Given the description of an element on the screen output the (x, y) to click on. 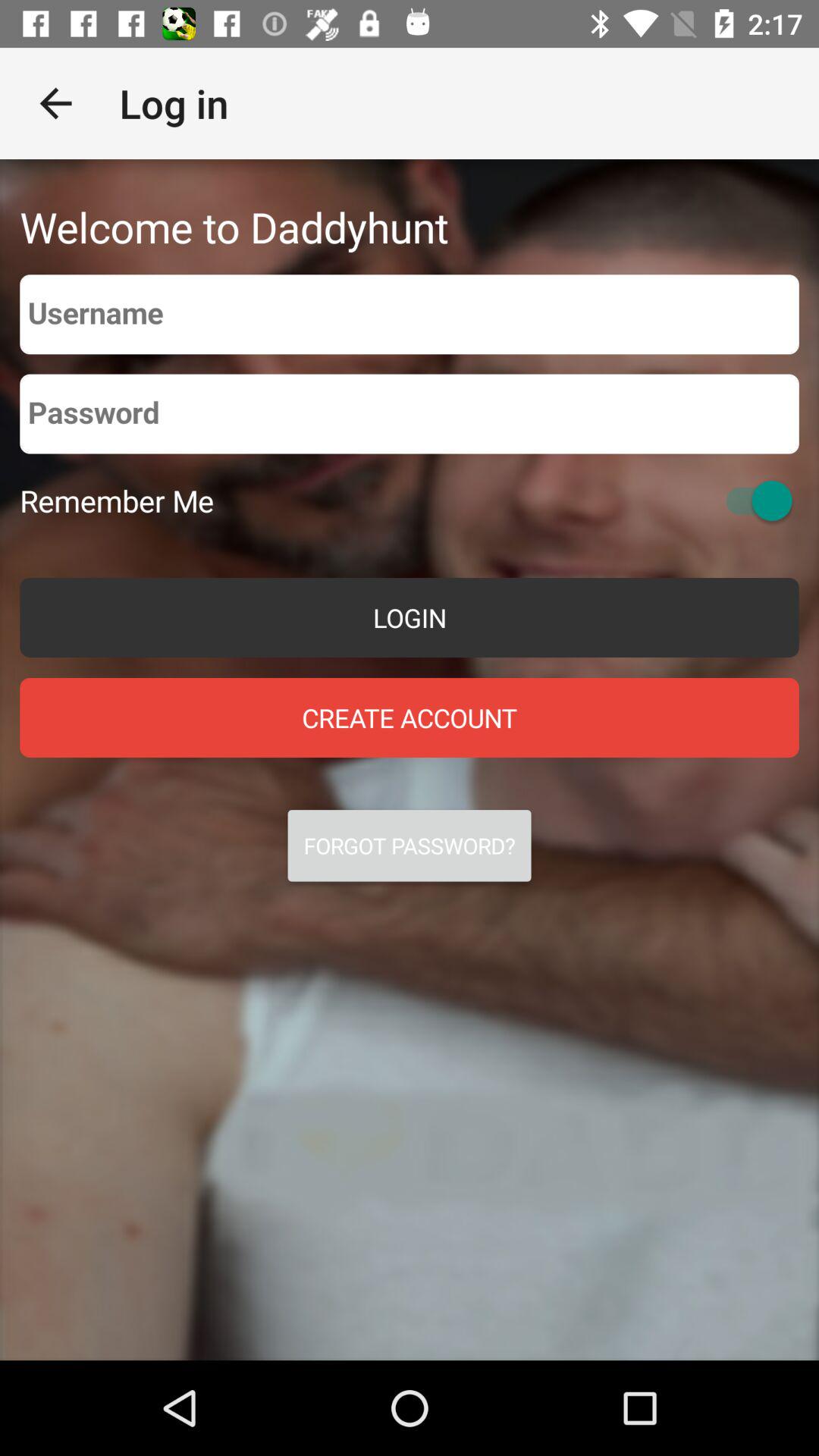
switch remember me toggle (751, 500)
